Given the description of an element on the screen output the (x, y) to click on. 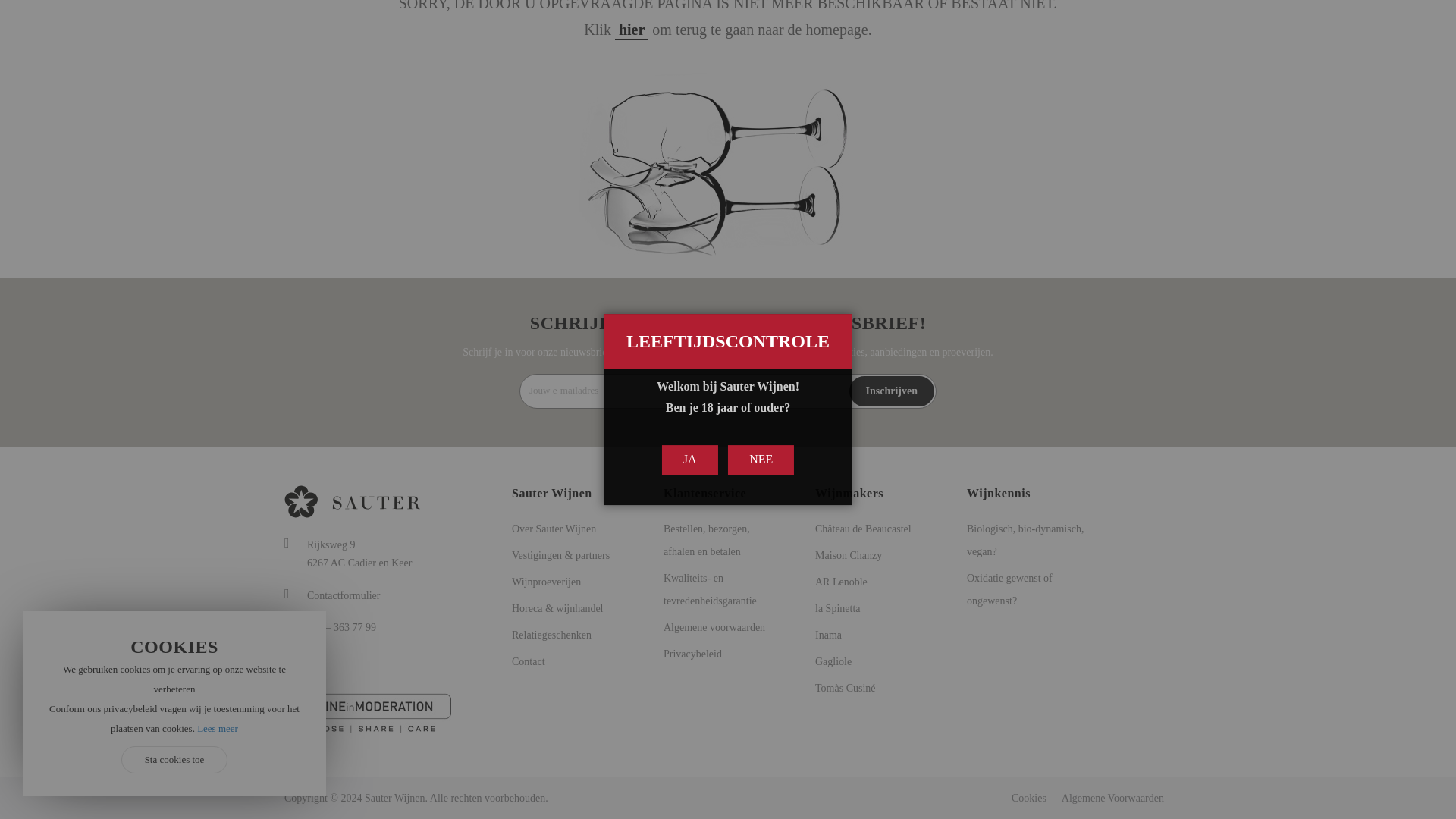
Lees meer (217, 332)
Nee (760, 63)
Ja (689, 63)
Inschrijven (891, 390)
Sta cookies toe (174, 363)
